Given the description of an element on the screen output the (x, y) to click on. 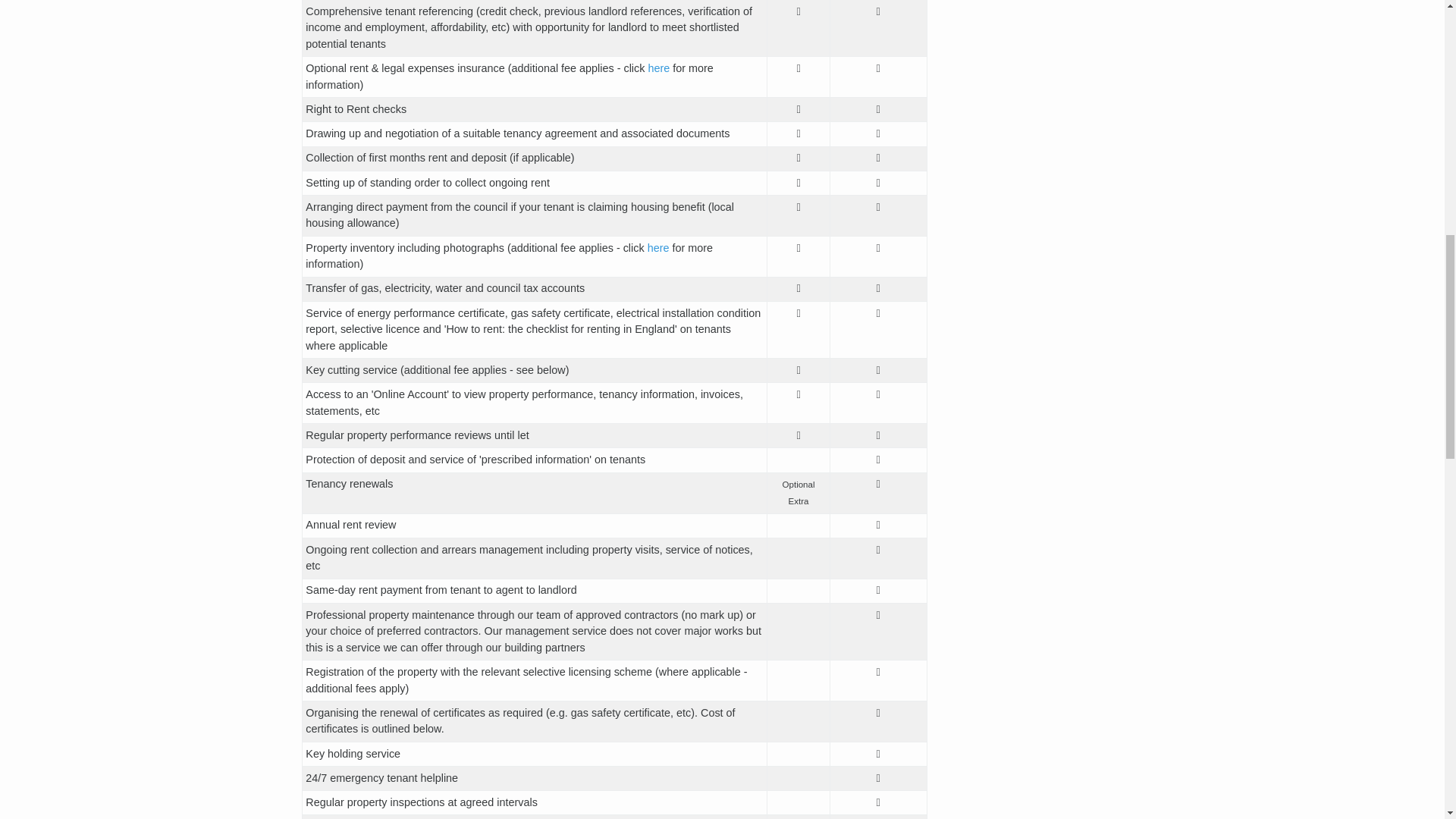
here (658, 68)
here (658, 247)
